Given the description of an element on the screen output the (x, y) to click on. 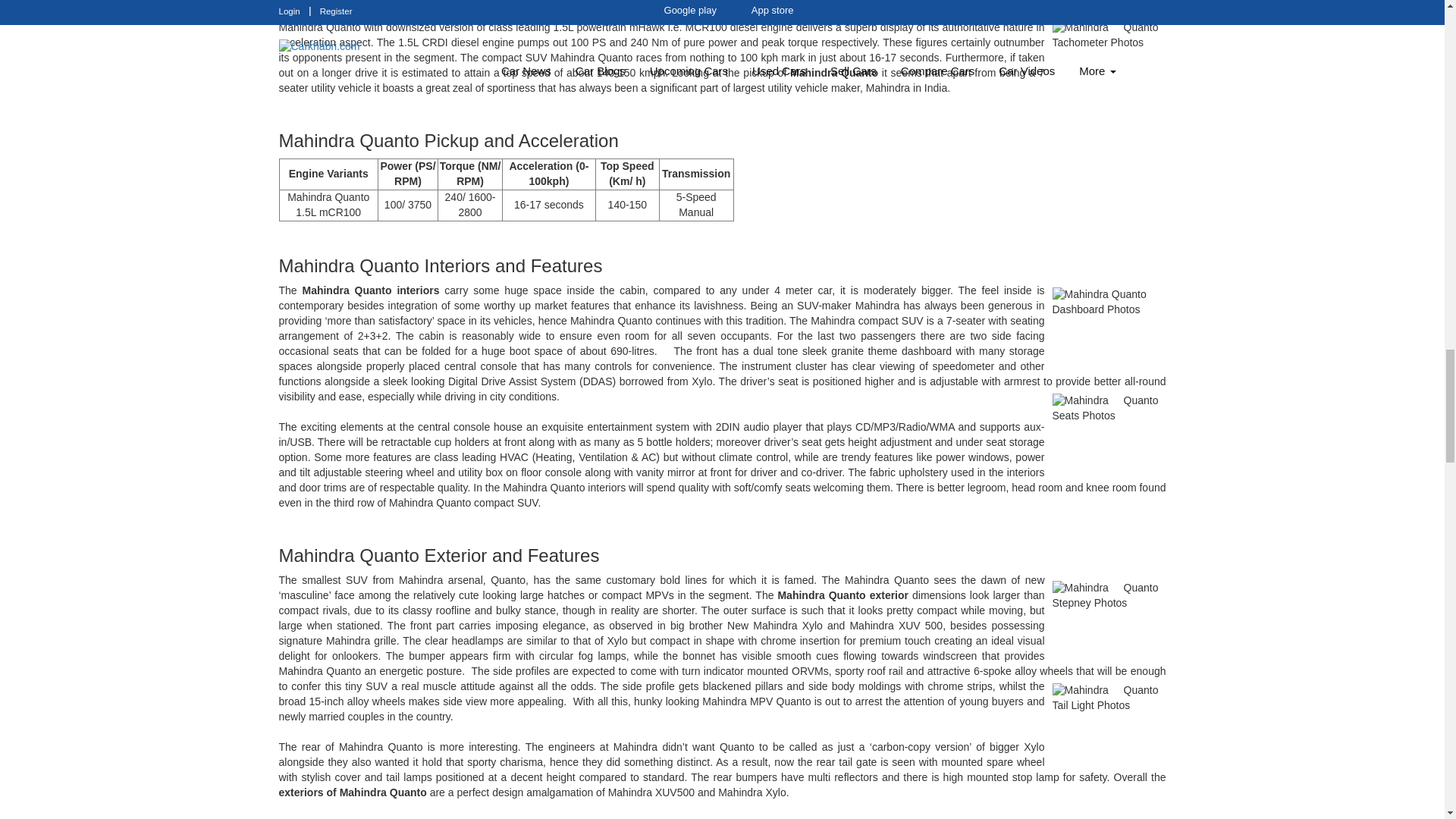
Mahindra Quanto Seats Photos (1105, 427)
Mahindra Quanto Tail Light Photos (1105, 717)
Mahindra Quanto Stepney Photos (1105, 614)
Mahindra Quanto Dashboard Photos (1105, 321)
Mahindra Quanto Tachometer Photos (1105, 54)
